Given the description of an element on the screen output the (x, y) to click on. 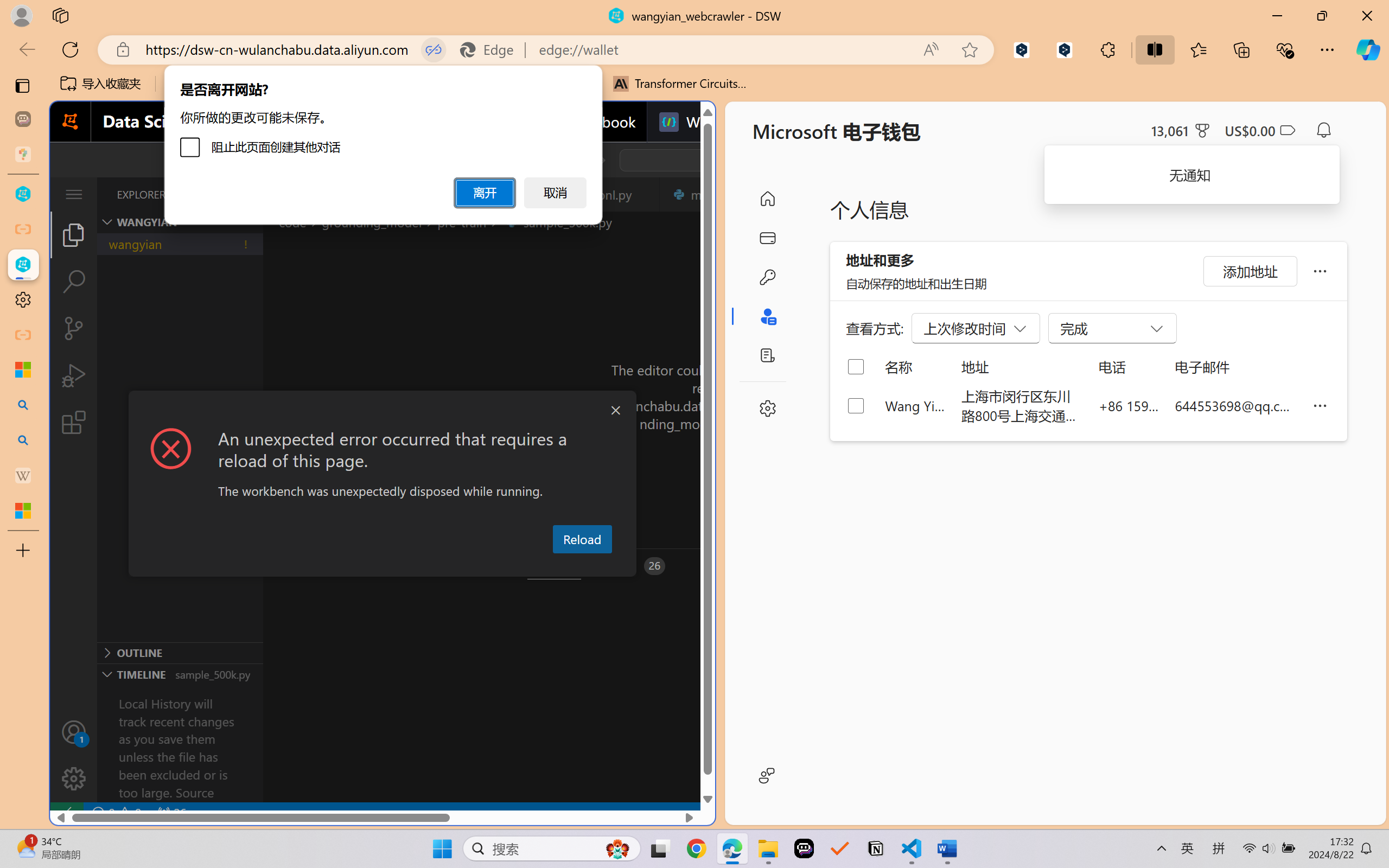
Terminal (Ctrl+`) (553, 565)
Copilot (Ctrl+Shift+.) (1368, 49)
